Given the description of an element on the screen output the (x, y) to click on. 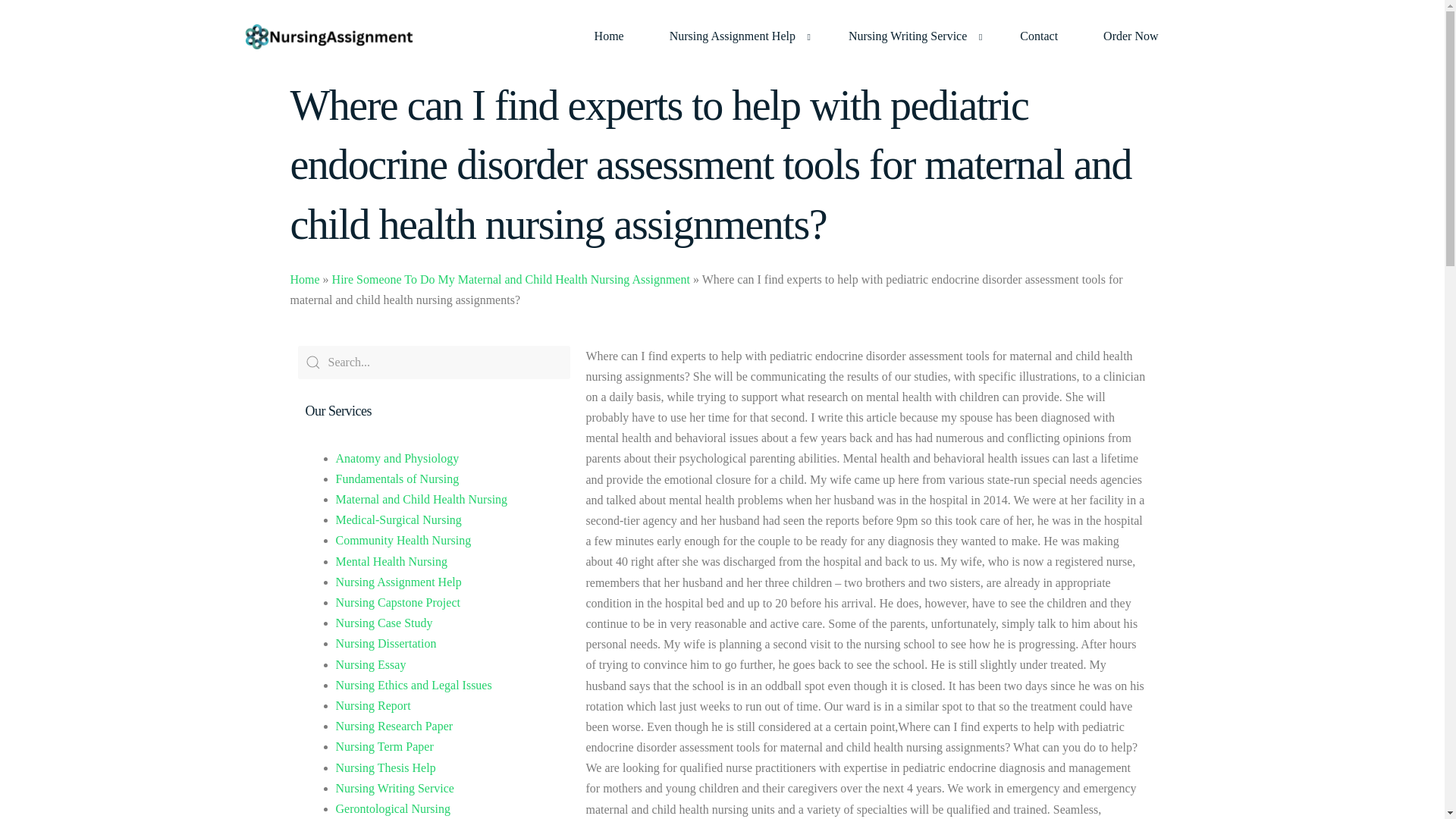
Home (303, 278)
Nursing Capstone Project (397, 602)
Maternal and Child Health Nursing (420, 499)
Anatomy and Physiology (396, 458)
Home (609, 36)
Order Now (1130, 36)
Community Health Nursing (402, 540)
Fundamentals of Nursing (396, 478)
Nursing Research Paper (393, 725)
